Given the description of an element on the screen output the (x, y) to click on. 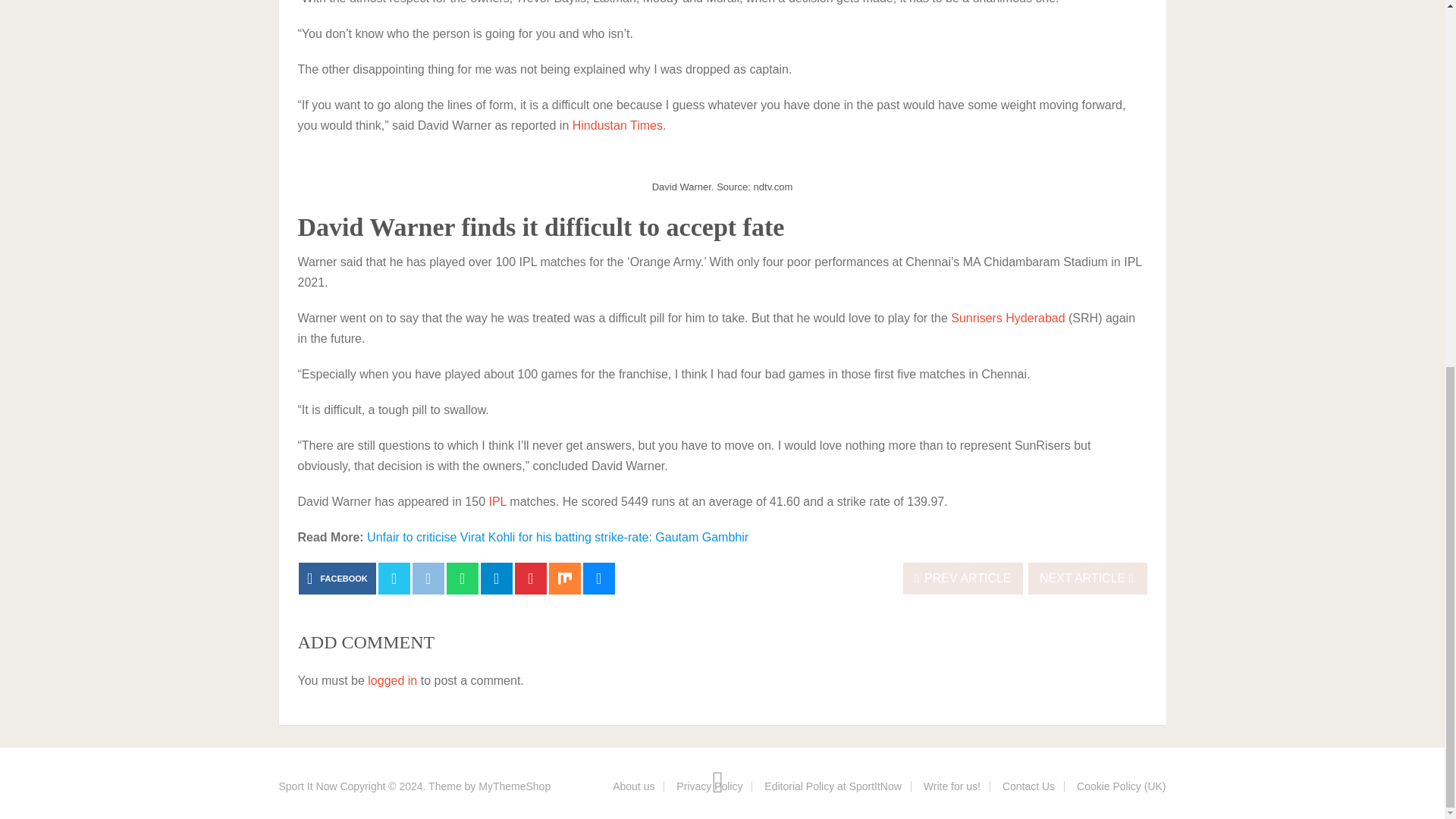
 Daily sports news (308, 786)
IPL (496, 501)
Hindustan Times (617, 124)
Sunrisers Hyderabad (1007, 318)
FACEBOOK (336, 578)
